Given the description of an element on the screen output the (x, y) to click on. 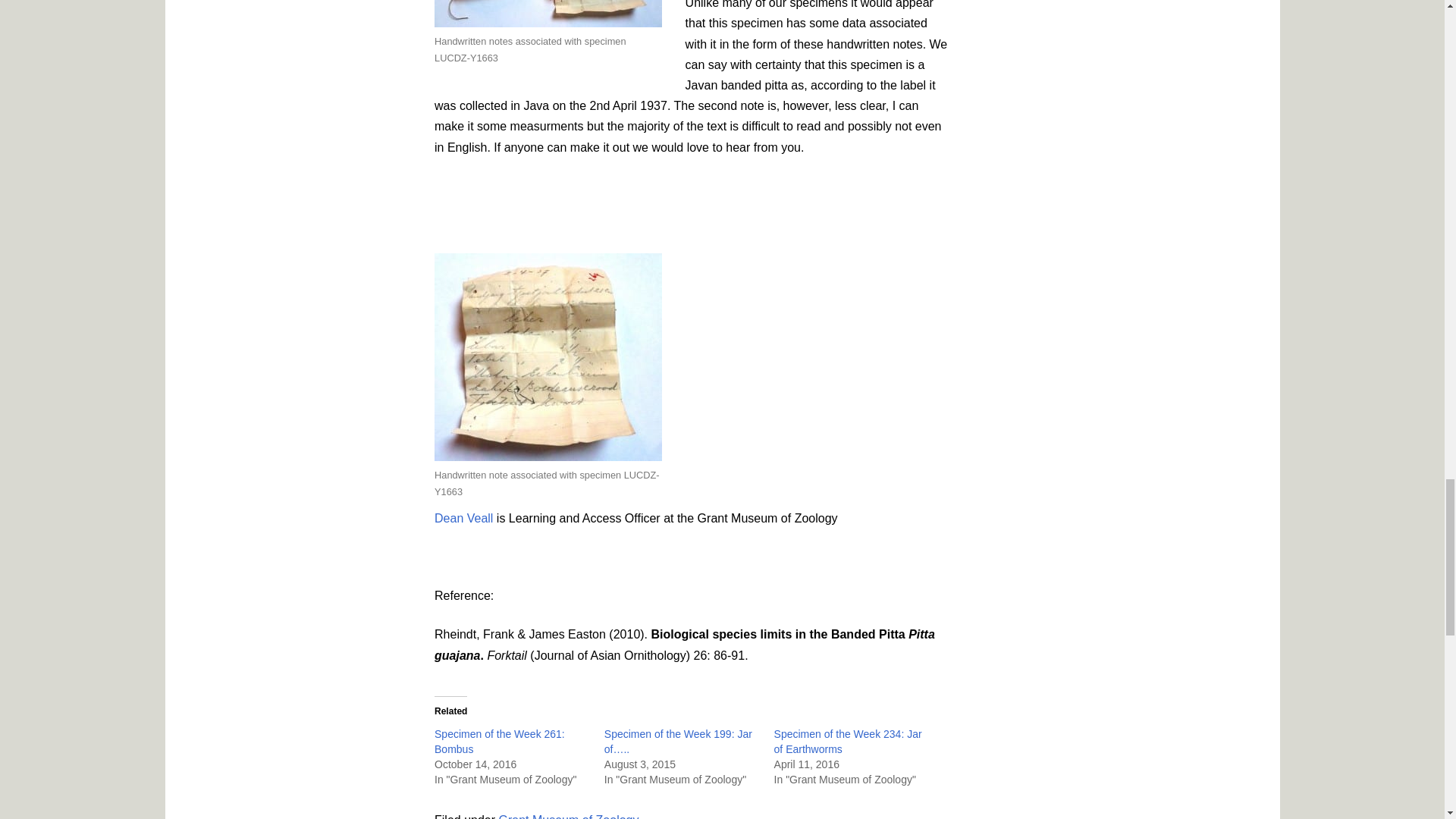
Specimen of the Week 234: Jar of Earthworms (847, 741)
Specimen of the Week 261: Bombus (498, 741)
Specimen of the Week 234: Jar of Earthworms (847, 741)
Specimen of the Week 261: Bombus (498, 741)
Grant Museum of Zoology (569, 816)
Dean Veall (463, 517)
